Given the description of an element on the screen output the (x, y) to click on. 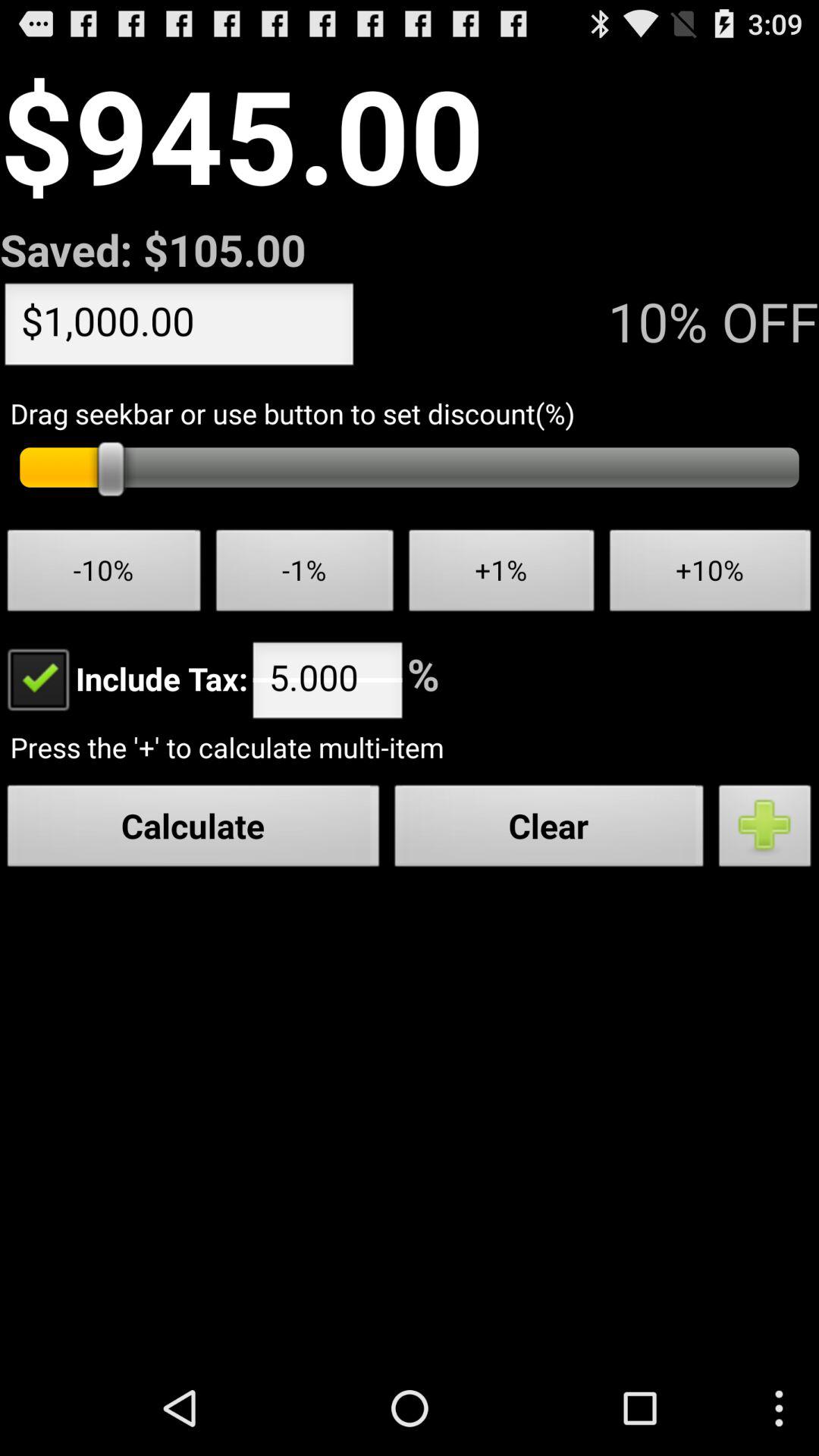
choose $1,000.00 (179, 327)
